Given the description of an element on the screen output the (x, y) to click on. 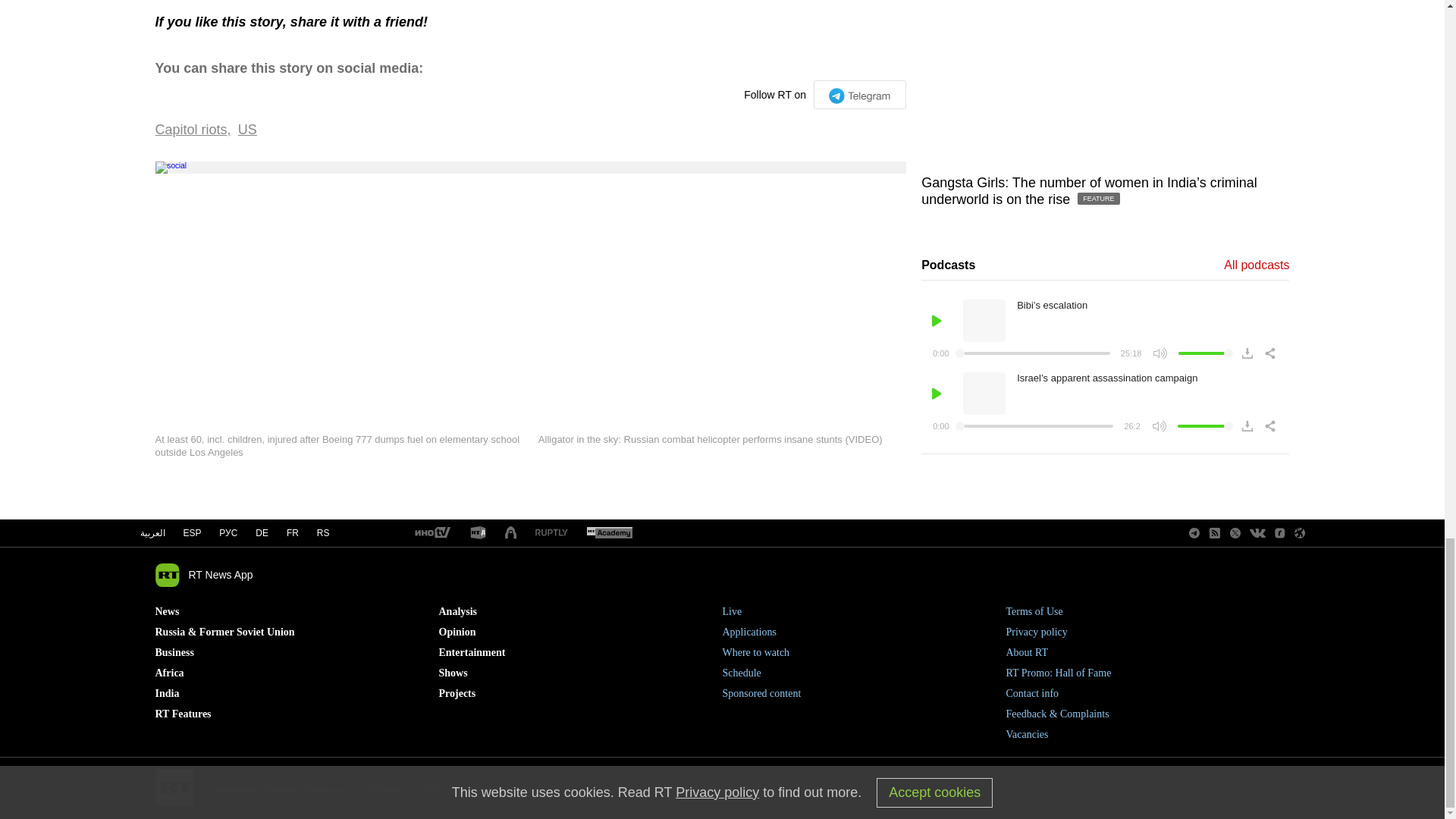
RT  (478, 533)
RT  (551, 533)
RT  (608, 533)
RT  (431, 533)
